Given the description of an element on the screen output the (x, y) to click on. 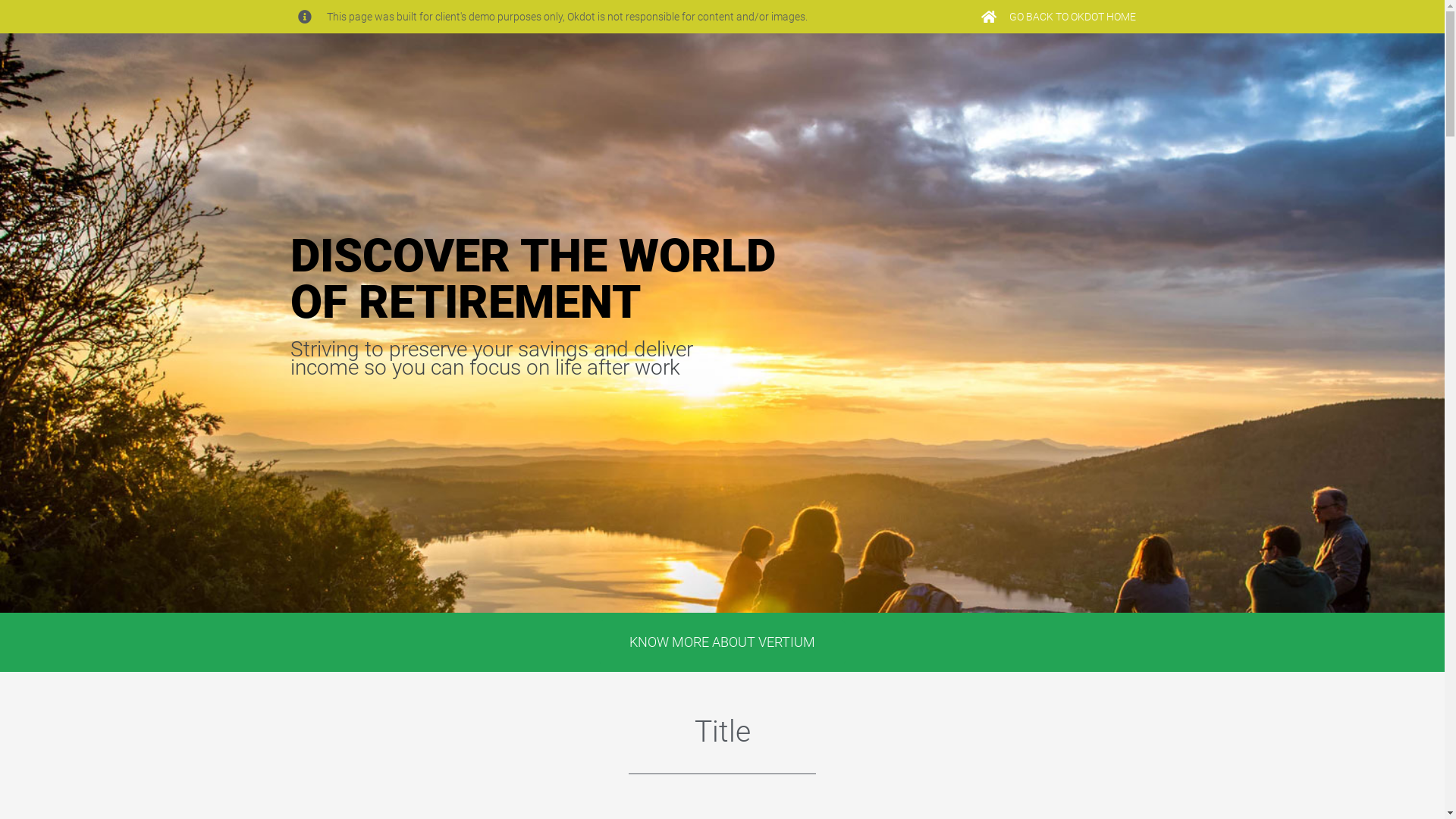
KNOW MORE ABOUT VERTIUM Element type: text (722, 642)
GO BACK TO OKDOT HOME Element type: text (1057, 16)
